Given the description of an element on the screen output the (x, y) to click on. 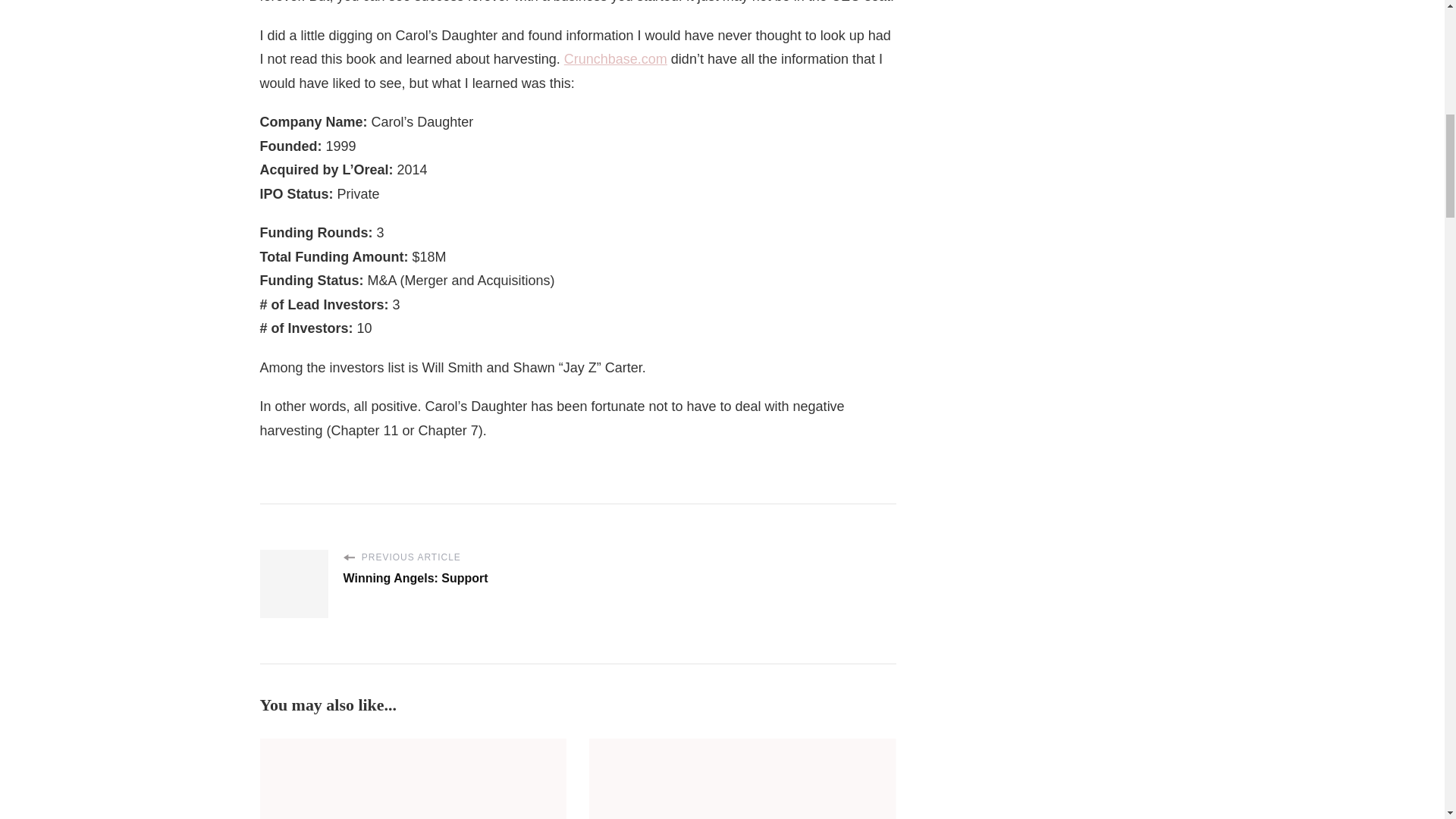
Crunchbase.com (615, 58)
